Given the description of an element on the screen output the (x, y) to click on. 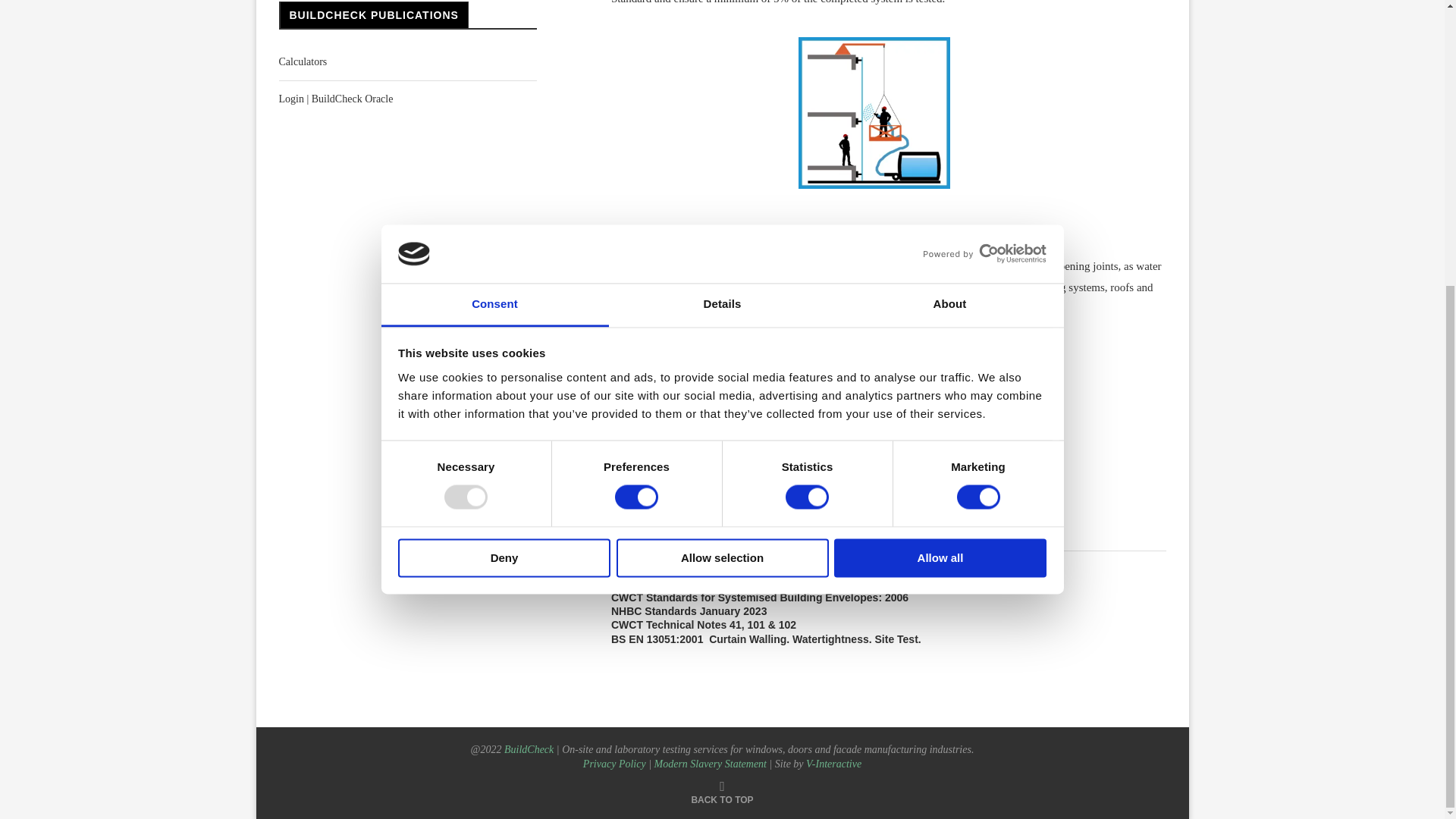
Allow selection (721, 126)
Allow all (940, 126)
Deny (503, 126)
